Given the description of an element on the screen output the (x, y) to click on. 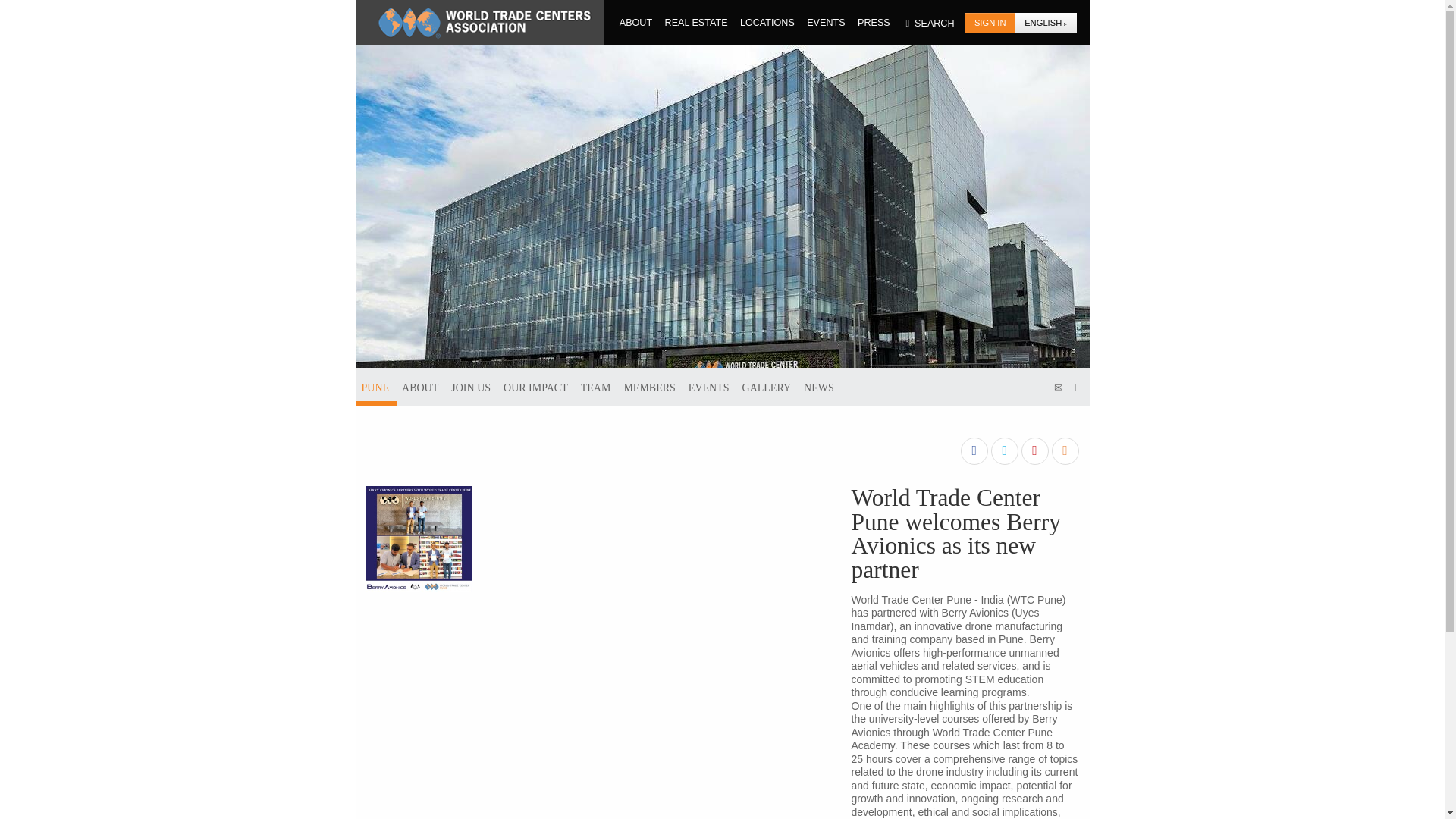
ABOUT (635, 22)
MEMBERS (648, 386)
EVENTS (825, 22)
REAL ESTATE (696, 22)
JOIN US (470, 386)
Berry Avionics signs MoU with WTC Pune (418, 538)
TEAM (595, 386)
NEWS (818, 386)
LOCATIONS (766, 22)
OUR IMPACT (535, 386)
PRESS (874, 22)
SIGN IN (989, 23)
GALLERY (767, 386)
PUNE (374, 386)
ABOUT (419, 386)
